Given the description of an element on the screen output the (x, y) to click on. 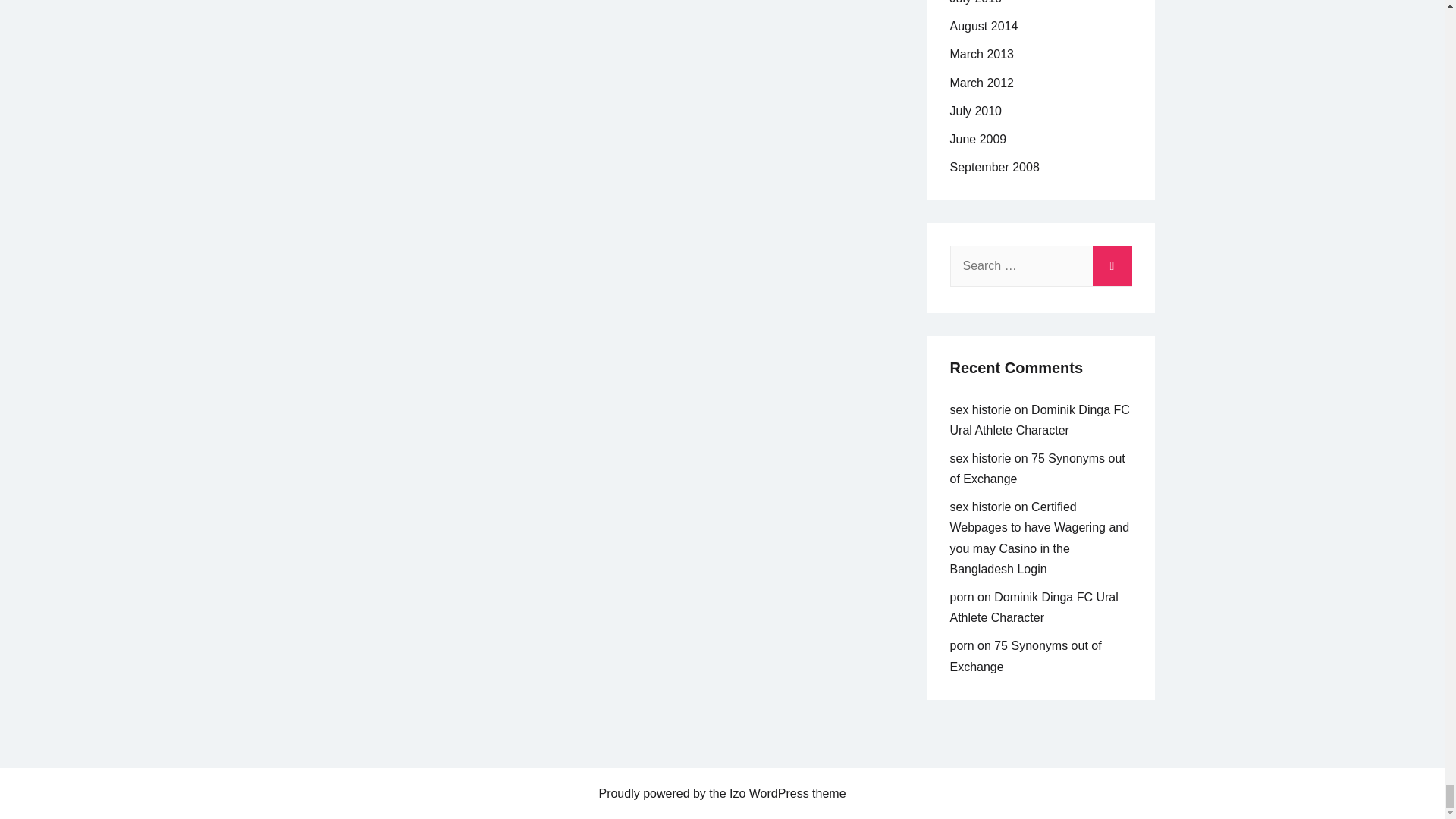
Search (1111, 262)
Search (1111, 262)
